Given the description of an element on the screen output the (x, y) to click on. 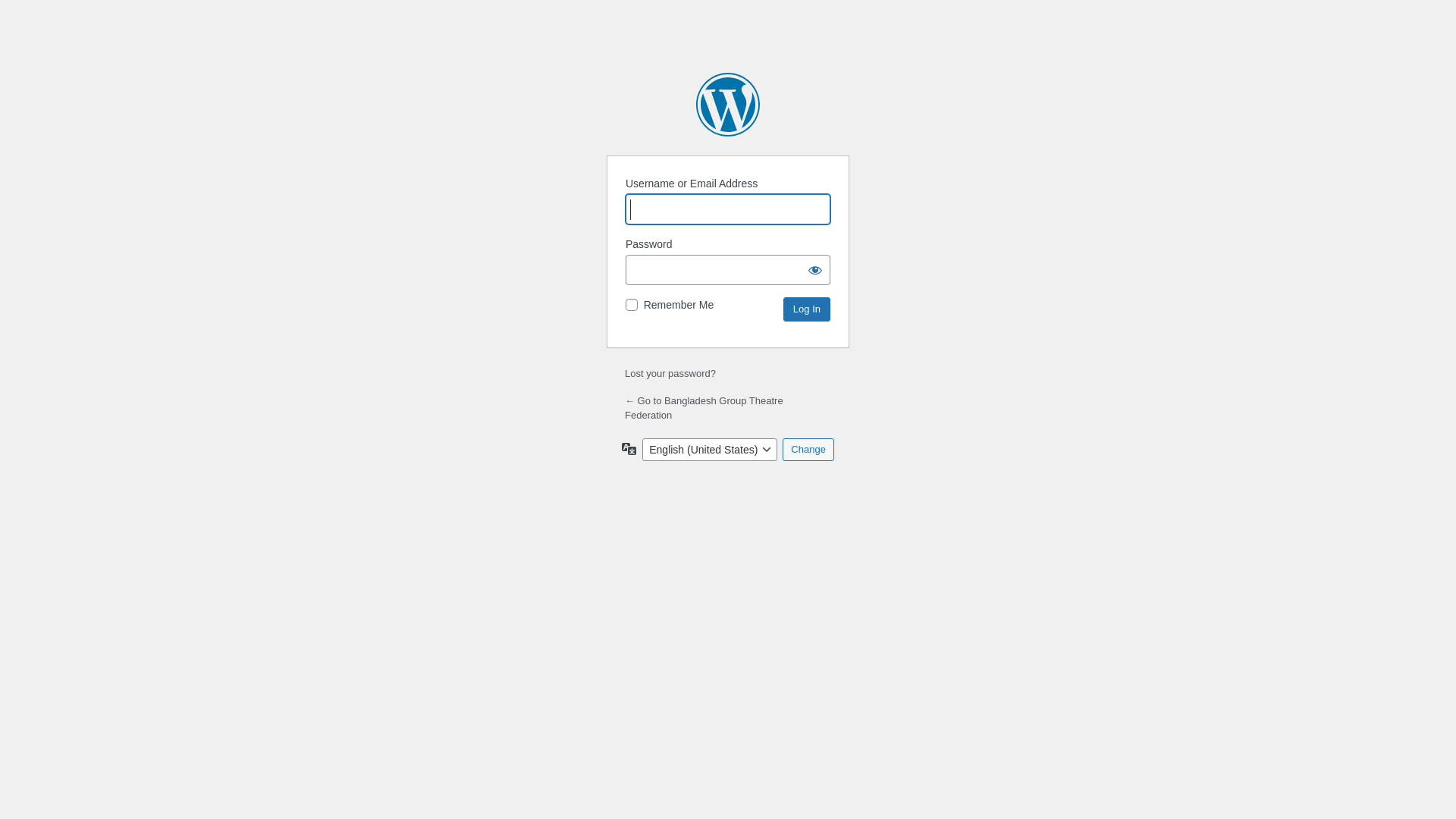
Log In Element type: text (806, 309)
Lost your password? Element type: text (669, 373)
Powered by WordPress Element type: text (727, 104)
Change Element type: text (808, 449)
